Given the description of an element on the screen output the (x, y) to click on. 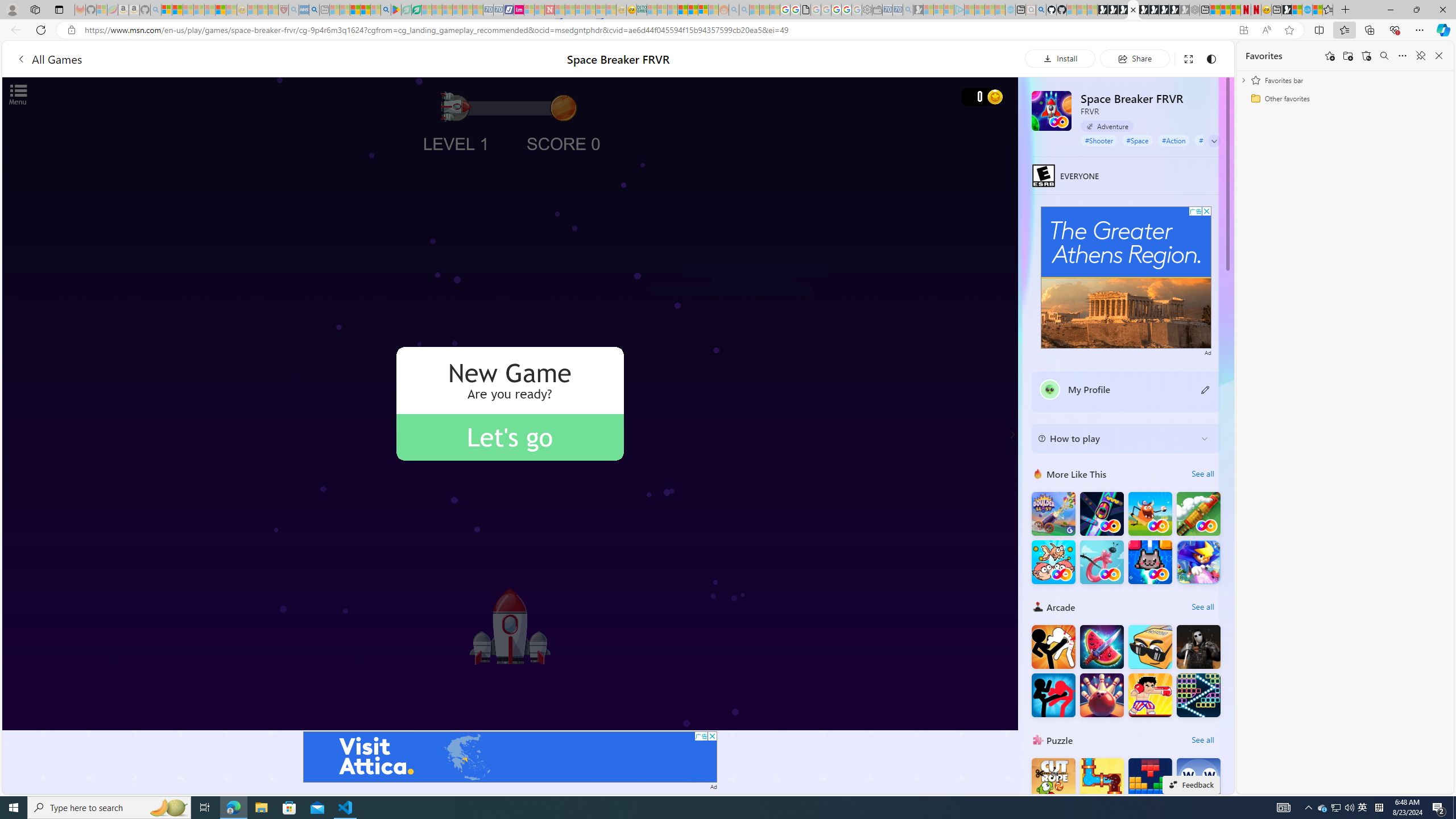
Boulder Blast (1053, 513)
Bluey: Let's Play! - Apps on Google Play (395, 9)
Search favorites (1383, 55)
#Shooter (1099, 140)
Monster Bash FRVR (1149, 513)
